Given the description of an element on the screen output the (x, y) to click on. 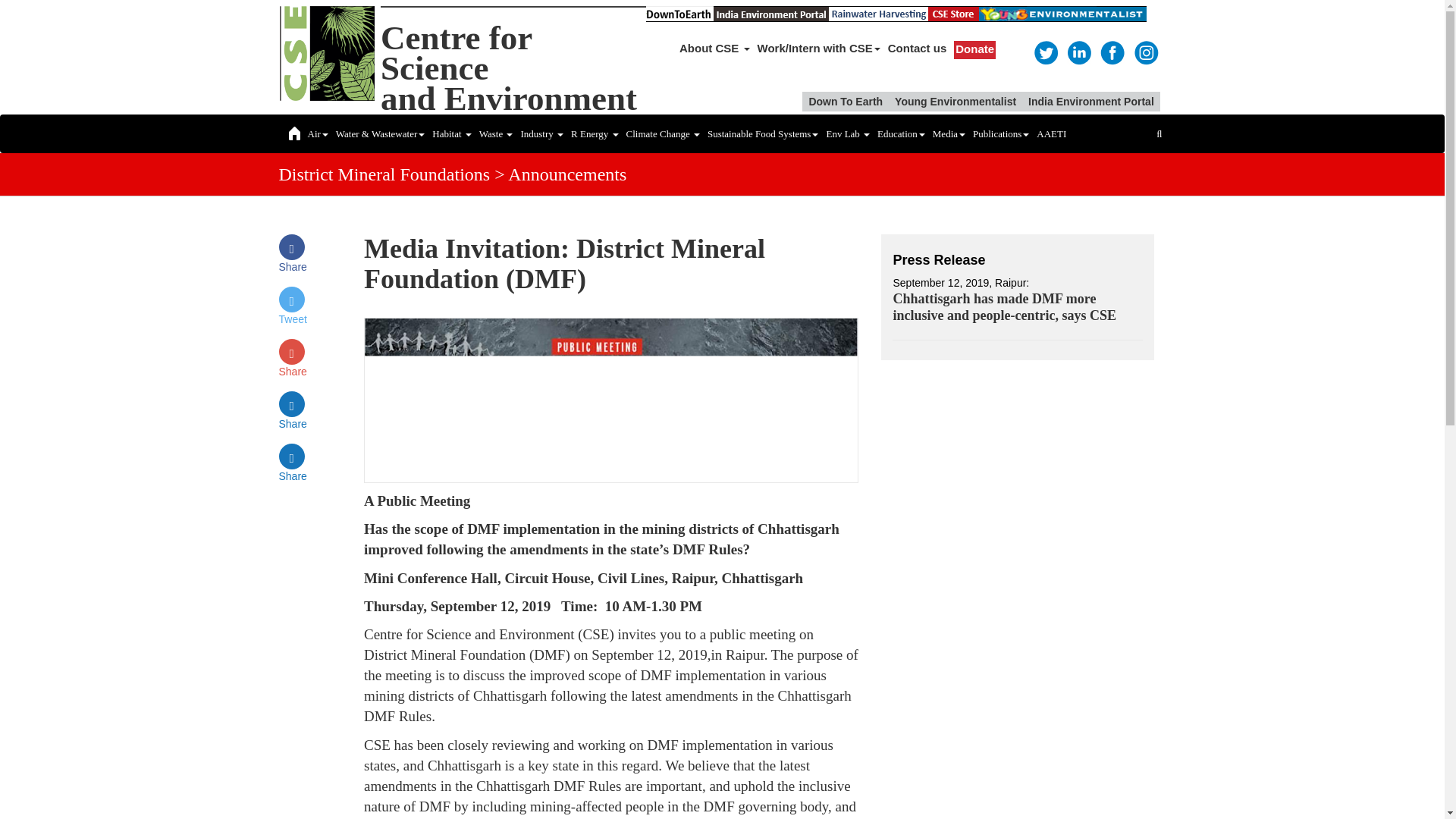
Donate (974, 49)
India Environment Portal (1091, 101)
Down To Earth (845, 101)
Twitter (1045, 51)
Young Environmentalist (954, 101)
Air (316, 133)
Instagram (1145, 51)
Linkedin (1078, 51)
About CSE (714, 48)
Facebook (1111, 51)
Contact us (916, 48)
